Given the description of an element on the screen output the (x, y) to click on. 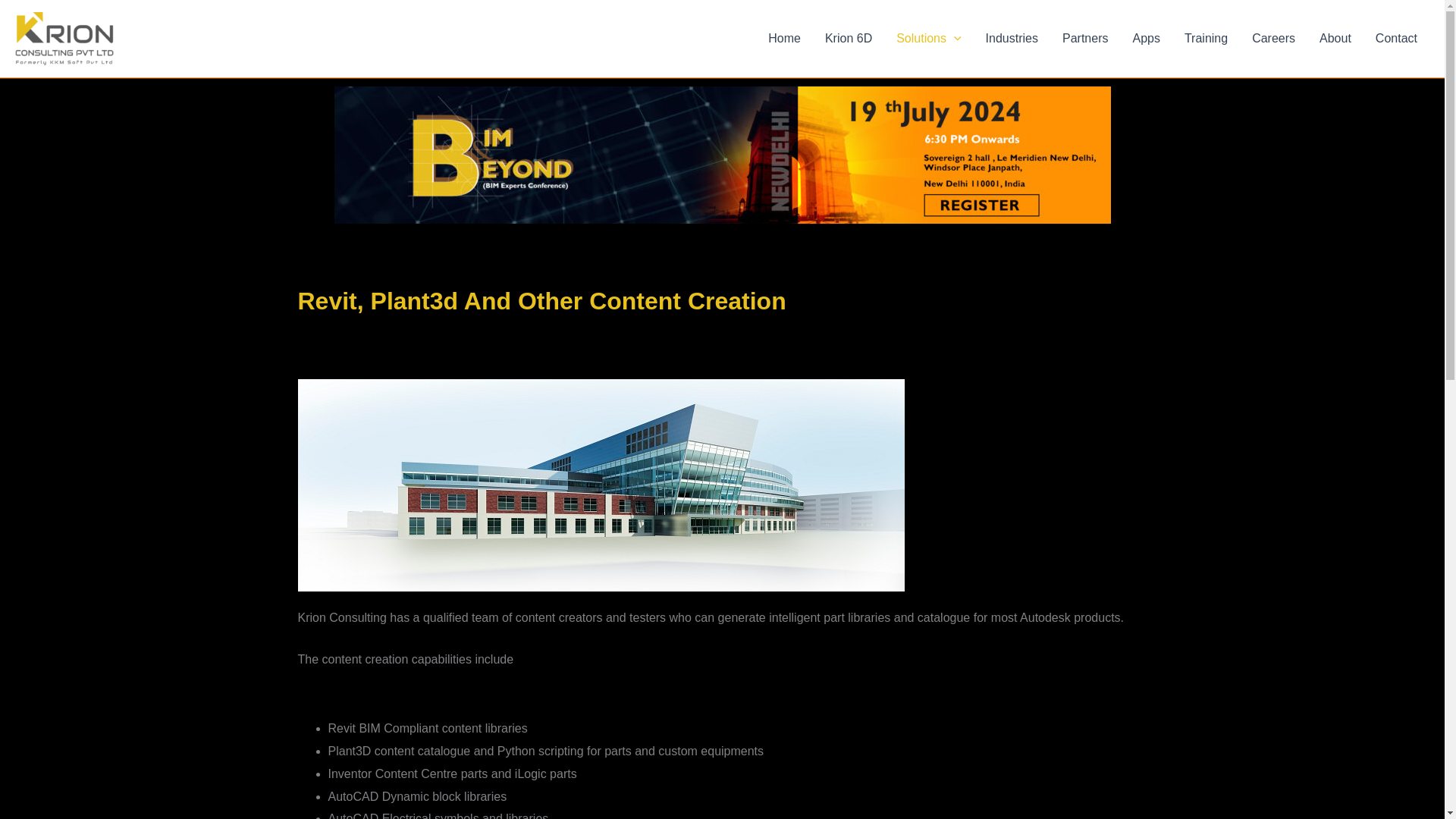
Apps (1145, 38)
Partners (1084, 38)
Solutions (927, 38)
Krion 6D (847, 38)
Careers (1273, 38)
Home (783, 38)
About (1334, 38)
Contact (1395, 38)
Industries (1011, 38)
Training (1206, 38)
